Given the description of an element on the screen output the (x, y) to click on. 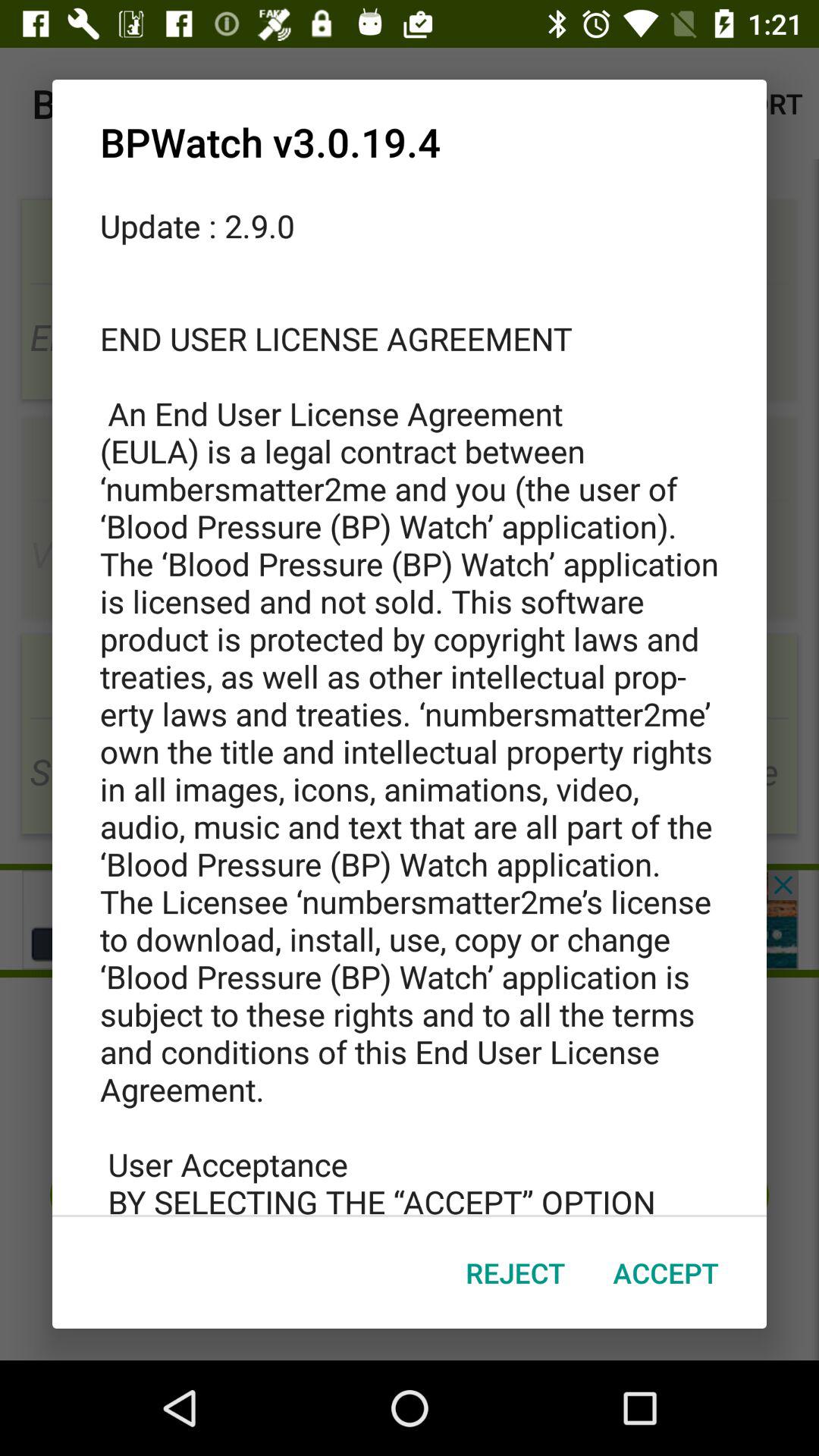
scroll to the accept item (665, 1272)
